Given the description of an element on the screen output the (x, y) to click on. 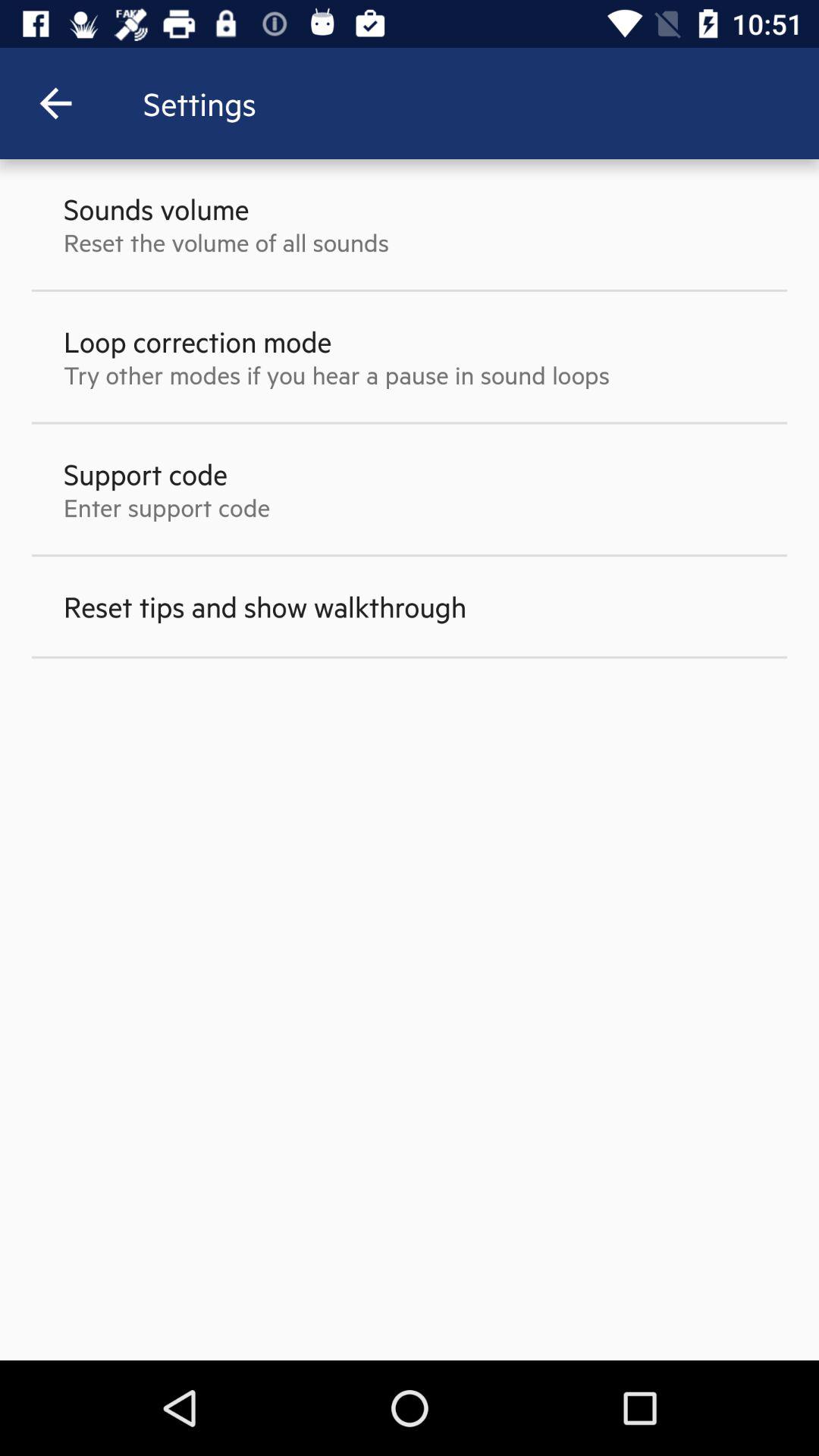
choose loop correction mode item (197, 341)
